Given the description of an element on the screen output the (x, y) to click on. 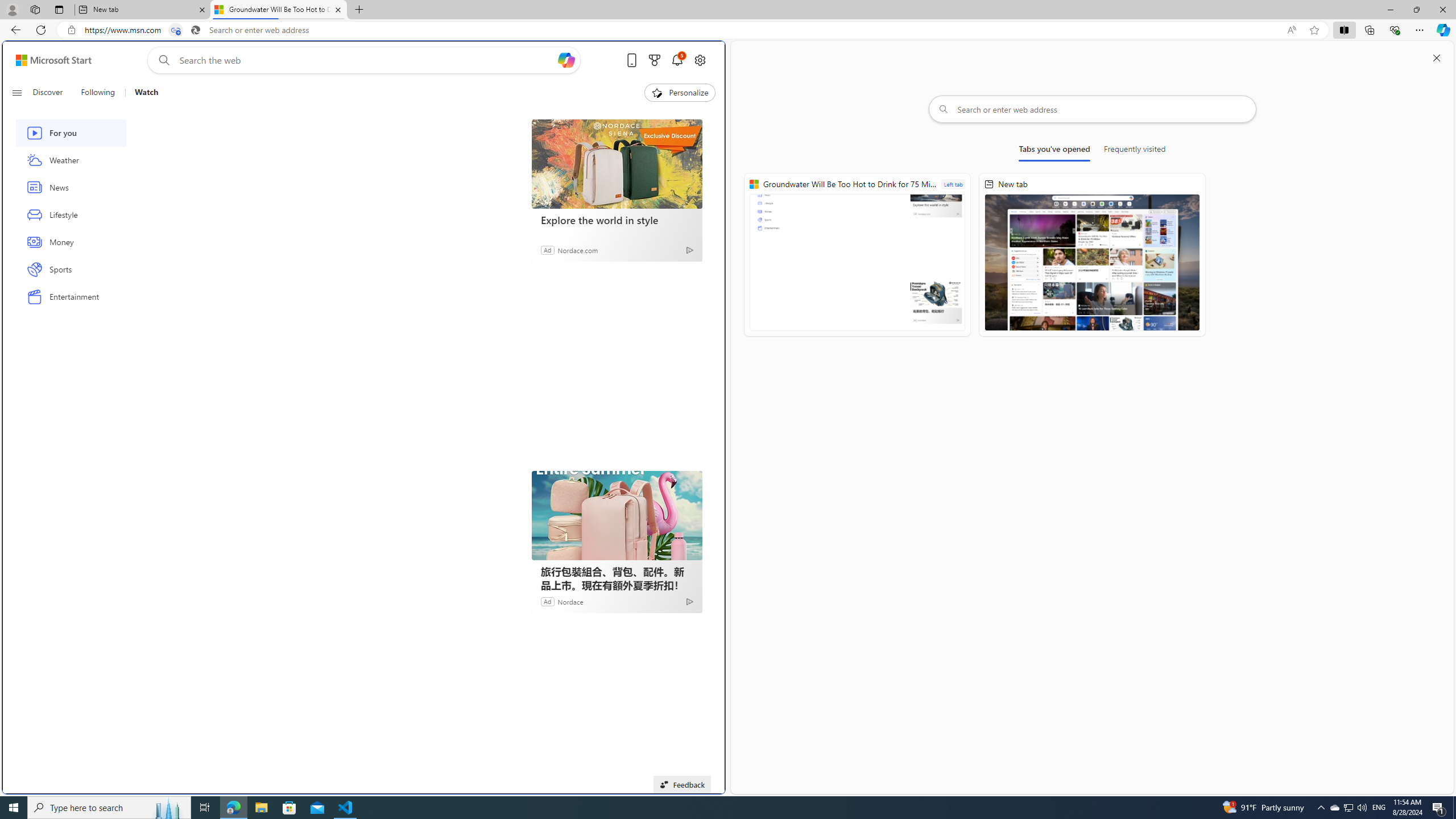
New tab (142, 9)
Collections (1369, 29)
Tabs you've opened (1054, 151)
Nordace (570, 601)
Open settings (699, 60)
Tabs in split screen (175, 29)
Search or enter web address (1092, 108)
Minimize (1390, 9)
Microsoft Start (53, 60)
Read aloud this page (Ctrl+Shift+U) (1291, 29)
To get missing image descriptions, open the context menu. (656, 92)
Restore (1416, 9)
Discover (47, 92)
Following (97, 92)
